Given the description of an element on the screen output the (x, y) to click on. 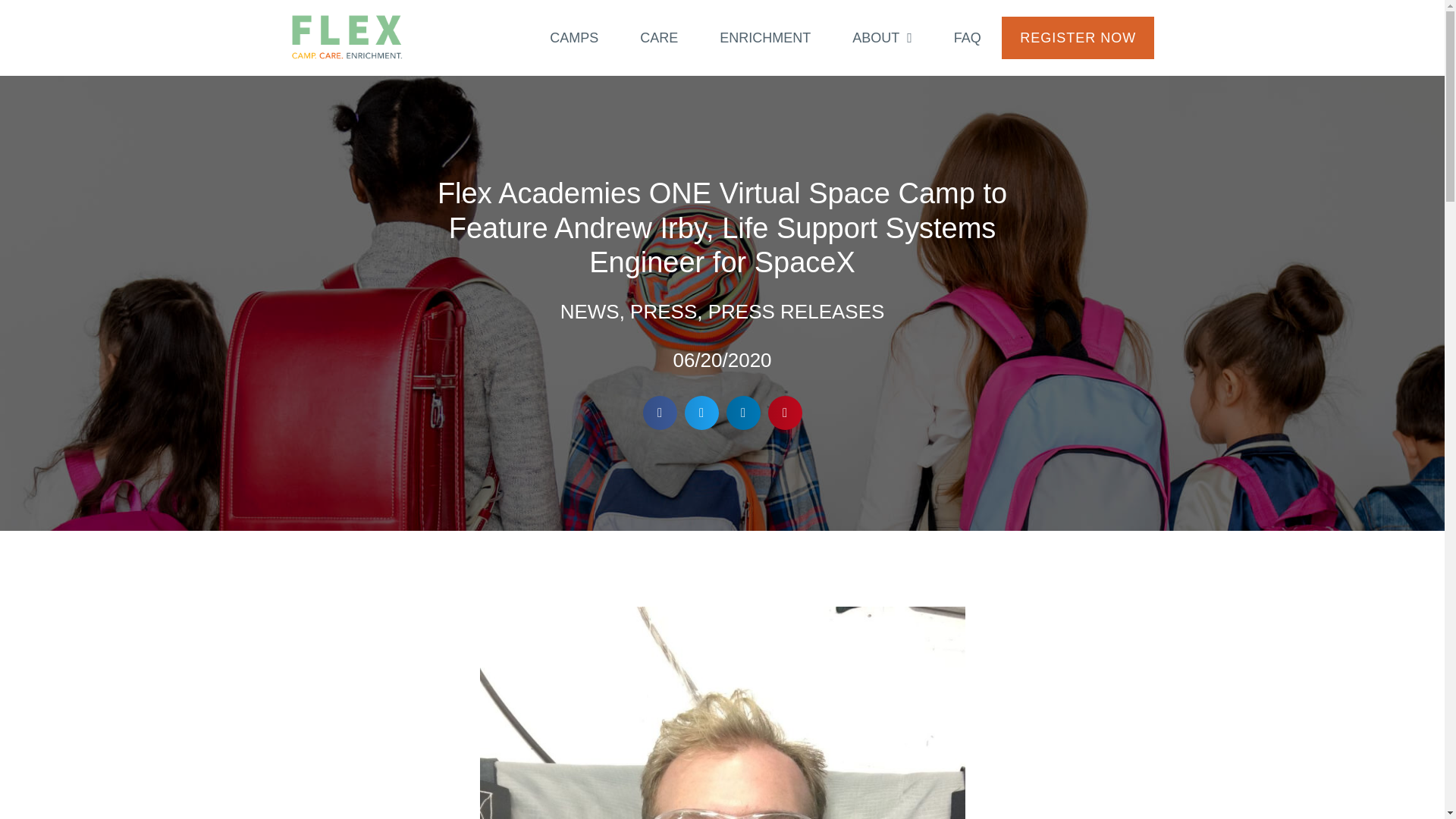
REGISTER NOW (1077, 37)
ENRICHMENT (764, 37)
ABOUT (882, 37)
CARE (658, 37)
FAQ (967, 37)
CAMPS (573, 37)
